Given the description of an element on the screen output the (x, y) to click on. 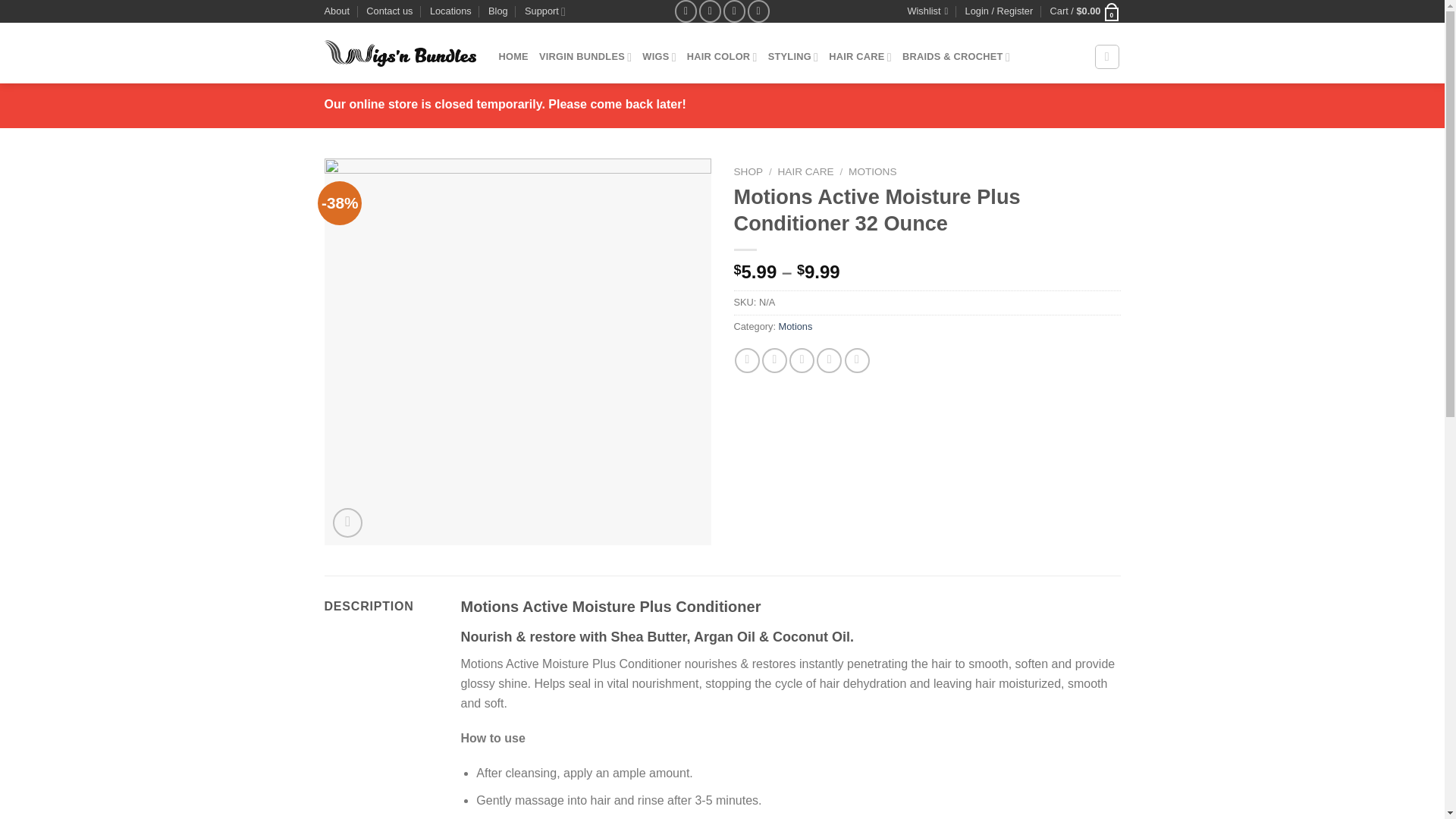
Follow on Instagram (709, 11)
HOME (513, 56)
Send us an email (734, 11)
Share on Twitter (774, 360)
Follow on Facebook (686, 11)
HAIR COLOR (722, 56)
Locations (450, 11)
Zoom (347, 522)
Contact us (389, 11)
Cart (1085, 11)
